Given the description of an element on the screen output the (x, y) to click on. 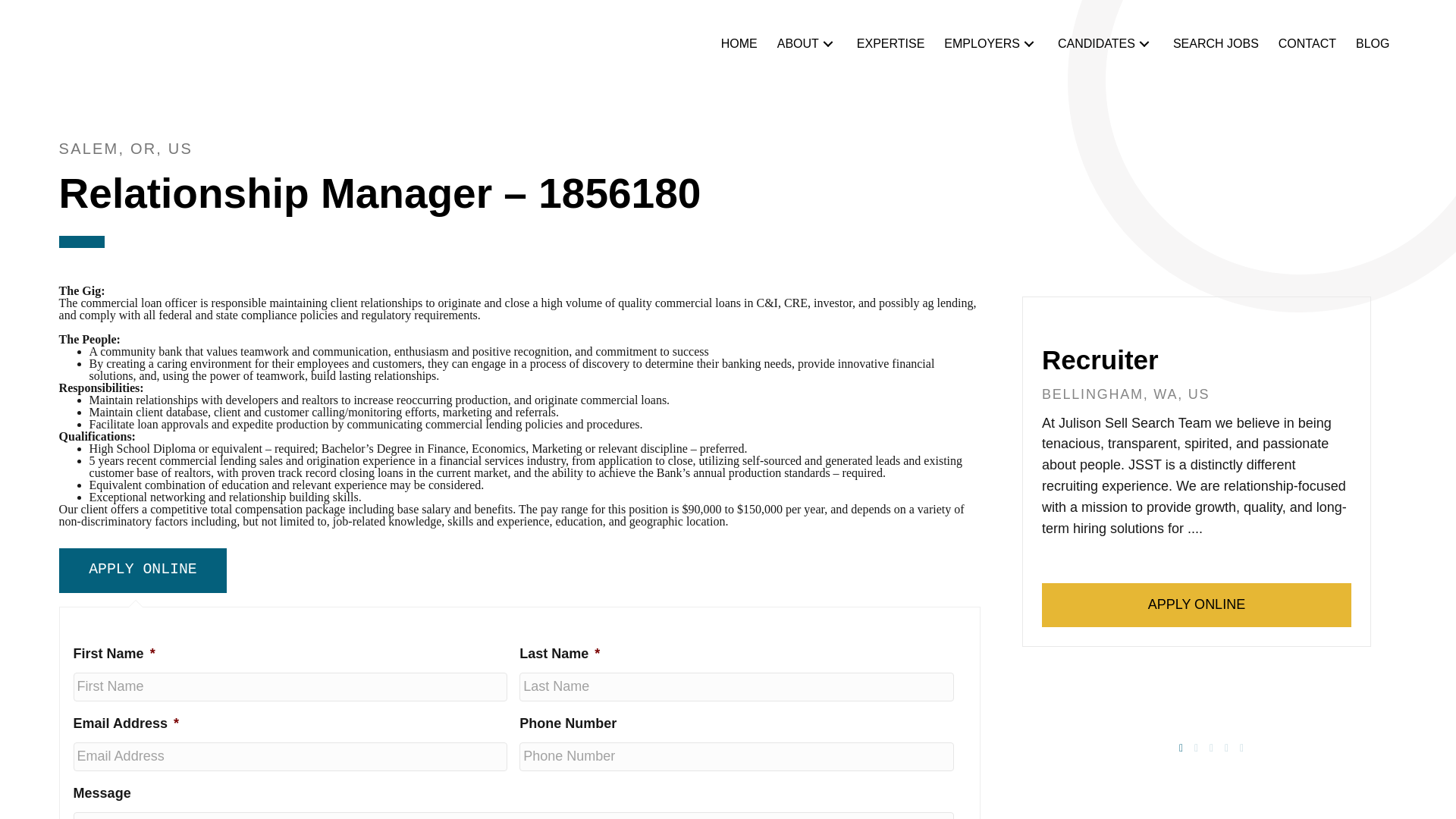
CANDIDATES (1104, 44)
Apply Online (143, 569)
EMPLOYERS (990, 44)
SEARCH JOBS (1216, 44)
CONTACT (1307, 44)
ABOUT (807, 44)
BLOG (1372, 44)
EXPERTISE (890, 44)
HOME (739, 44)
